Given the description of an element on the screen output the (x, y) to click on. 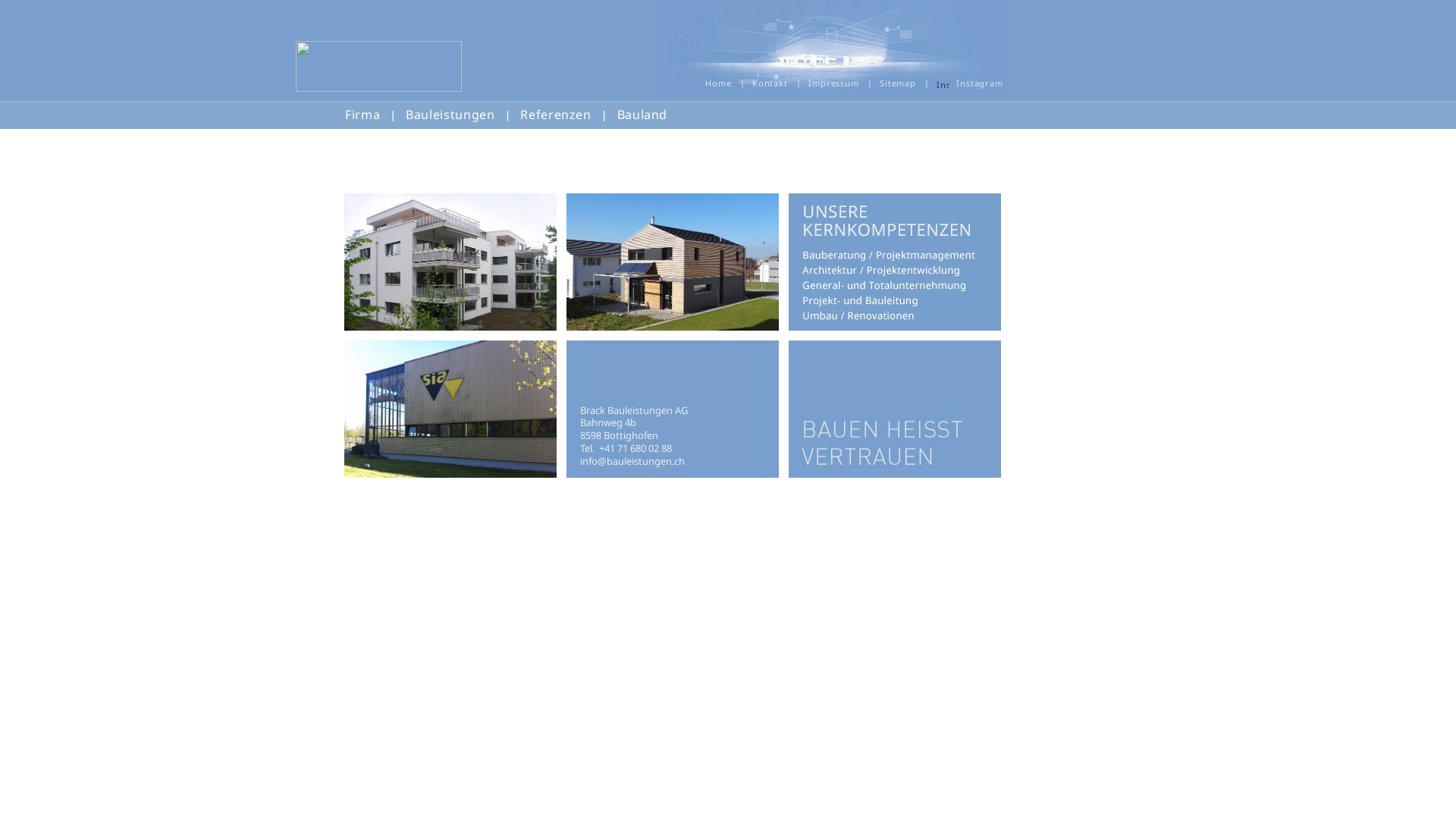
Bauland Element type: text (641, 114)
Kontakt Element type: text (768, 82)
Bauleistungen Element type: text (449, 114)
Impressum Element type: text (832, 82)
Firma Element type: text (362, 114)
Instagram Element type: text (968, 82)
Sitemap Element type: text (896, 82)
Referenzen Element type: text (555, 114)
Instagram Element type: hover (942, 82)
Home Element type: text (717, 82)
info@bauleistungen.ch Element type: text (632, 460)
